Given the description of an element on the screen output the (x, y) to click on. 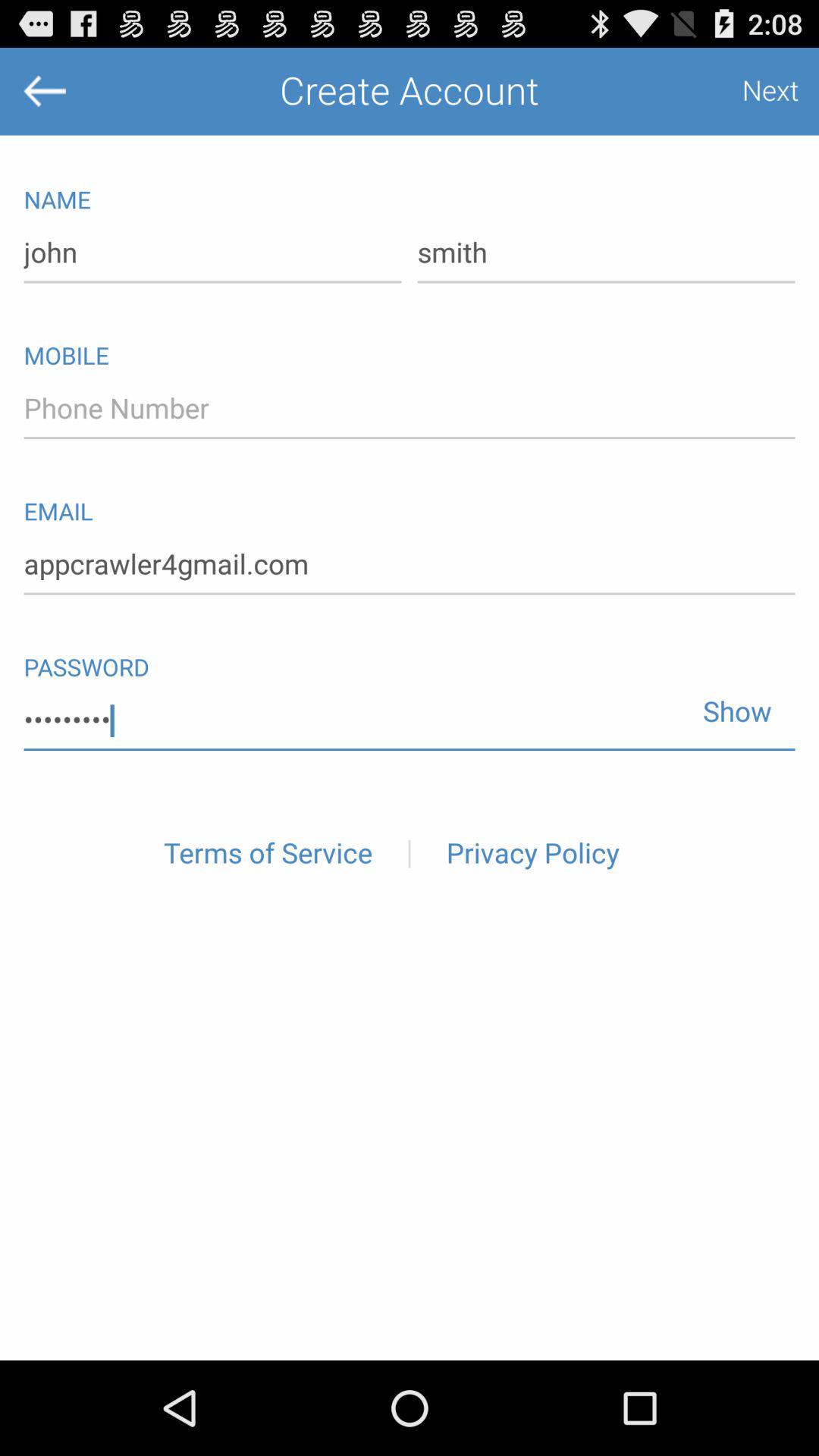
select text box fpr phone number (409, 409)
